Given the description of an element on the screen output the (x, y) to click on. 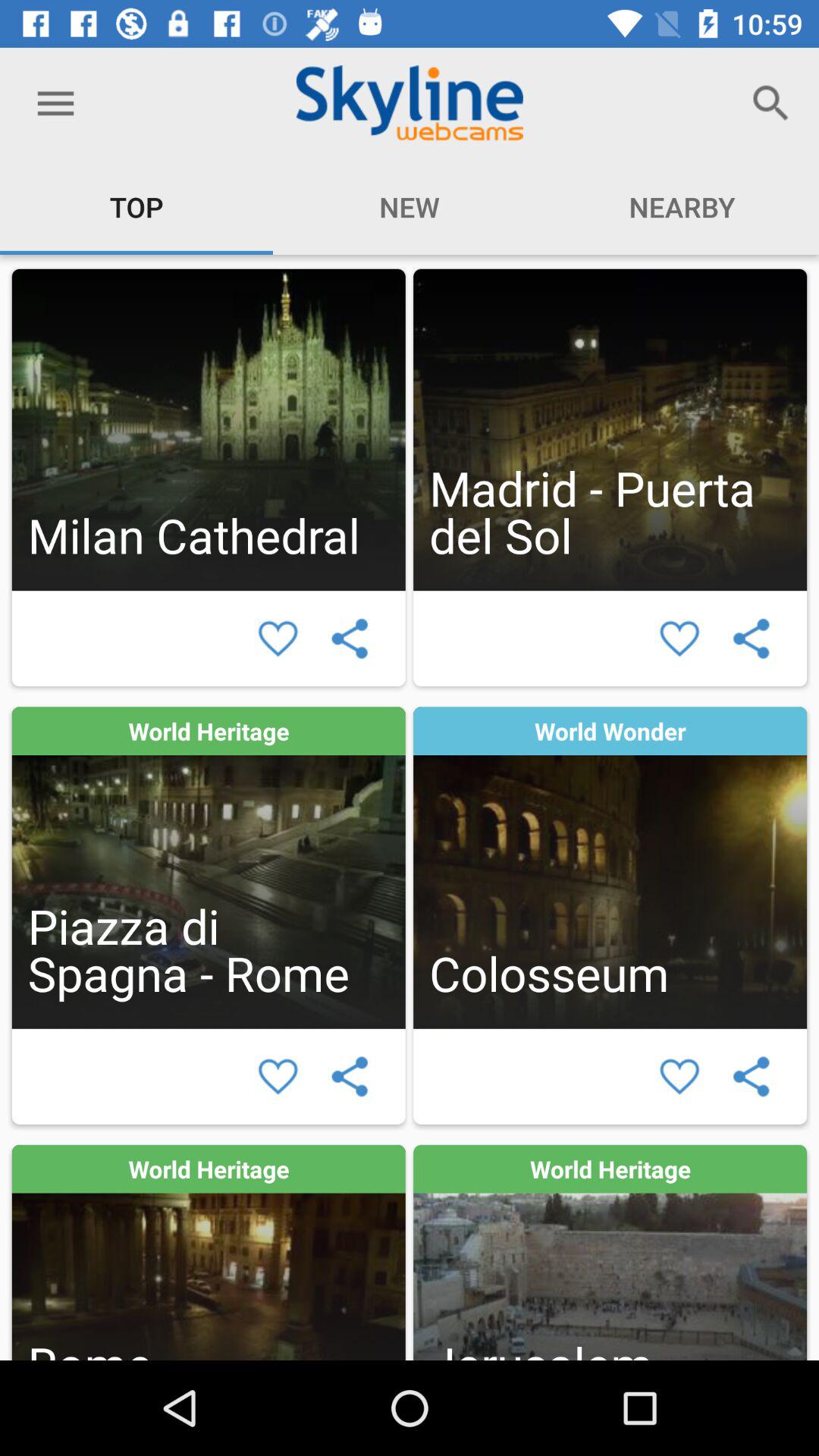
share this webcam (349, 1076)
